Given the description of an element on the screen output the (x, y) to click on. 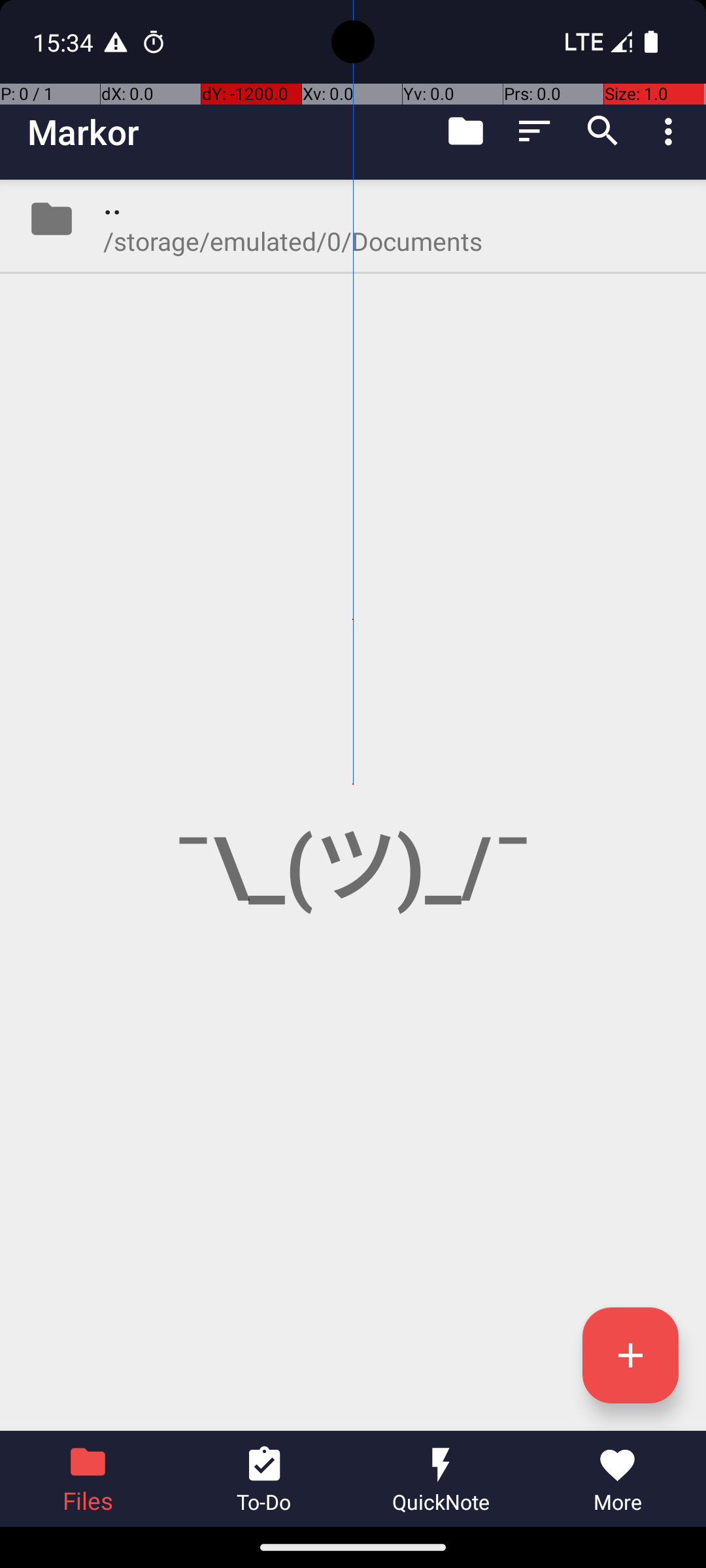
¯\_(ツ)_/¯ Element type: android.widget.TextView (353, 804)
